Given the description of an element on the screen output the (x, y) to click on. 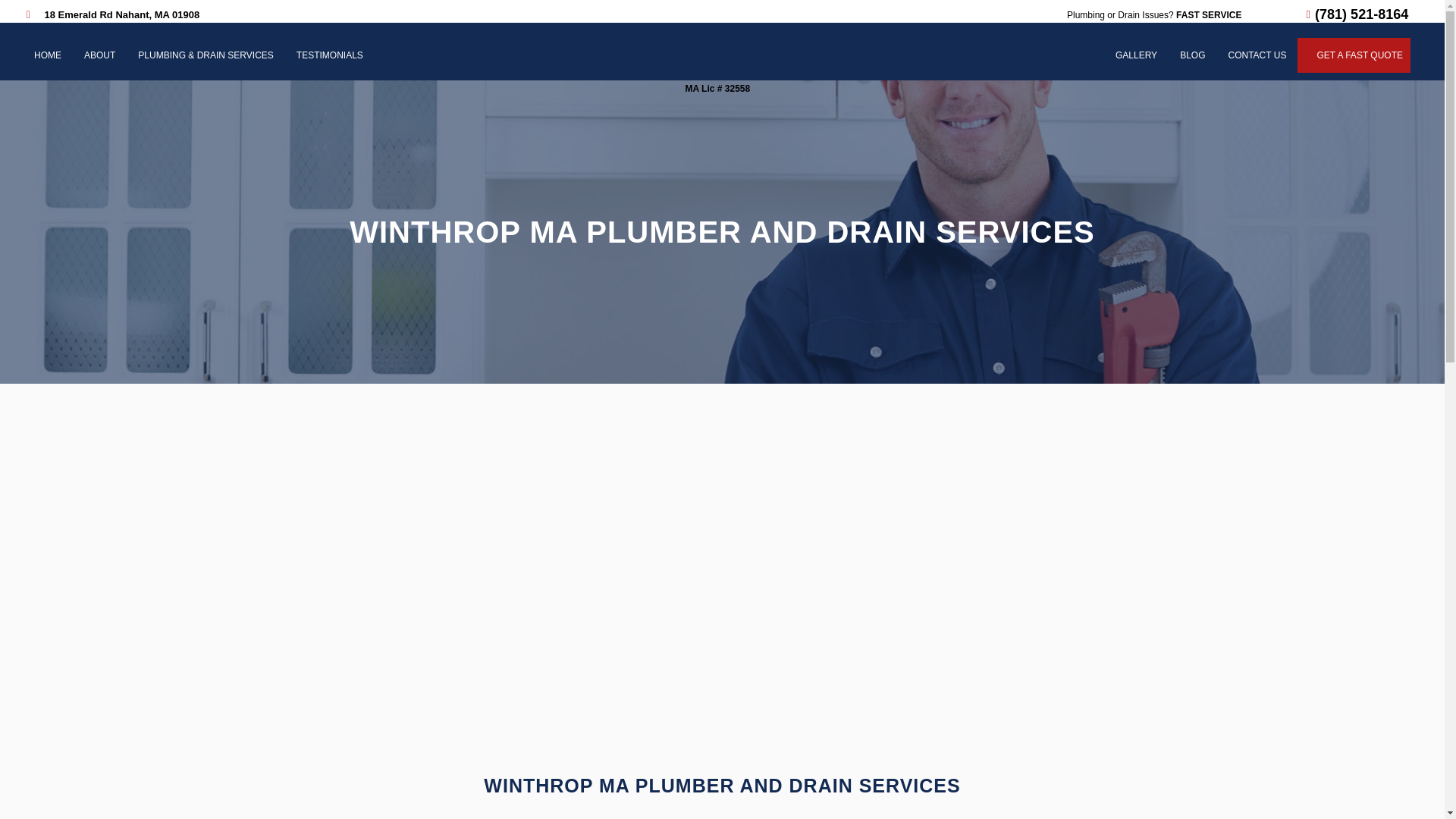
GET A FAST QUOTE (1359, 54)
ABOUT (99, 54)
GALLERY (1136, 54)
TESTIMONIALS (329, 54)
CONTACT US (1257, 54)
